Given the description of an element on the screen output the (x, y) to click on. 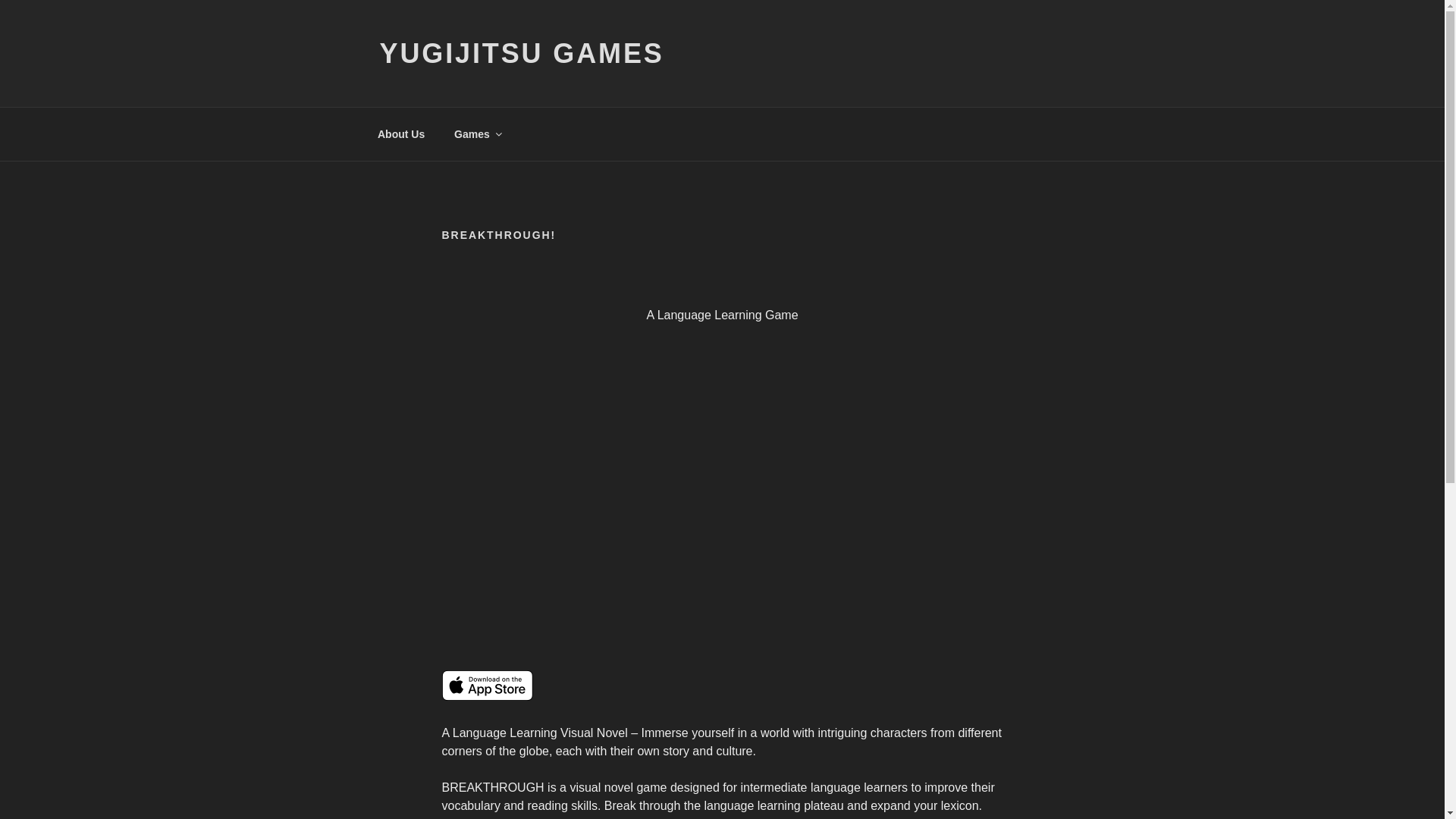
YUGIJITSU GAMES (520, 52)
About Us (401, 133)
Games (477, 133)
